Given the description of an element on the screen output the (x, y) to click on. 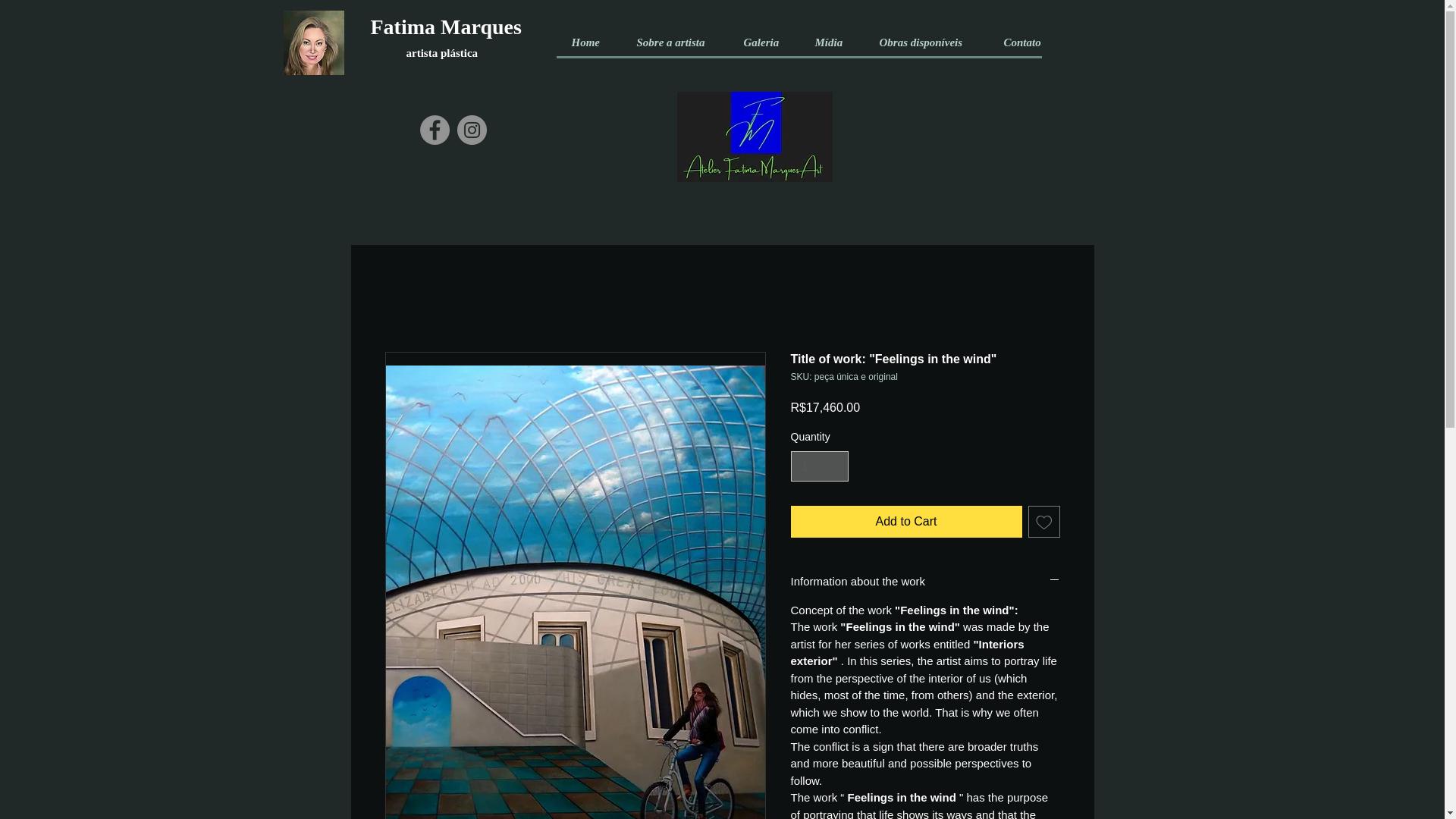
1 (818, 466)
Sobre a artista (675, 42)
Galeria (763, 42)
Information about the work (924, 581)
Contato (1025, 42)
Add to Cart (906, 521)
Home (588, 42)
